Given the description of an element on the screen output the (x, y) to click on. 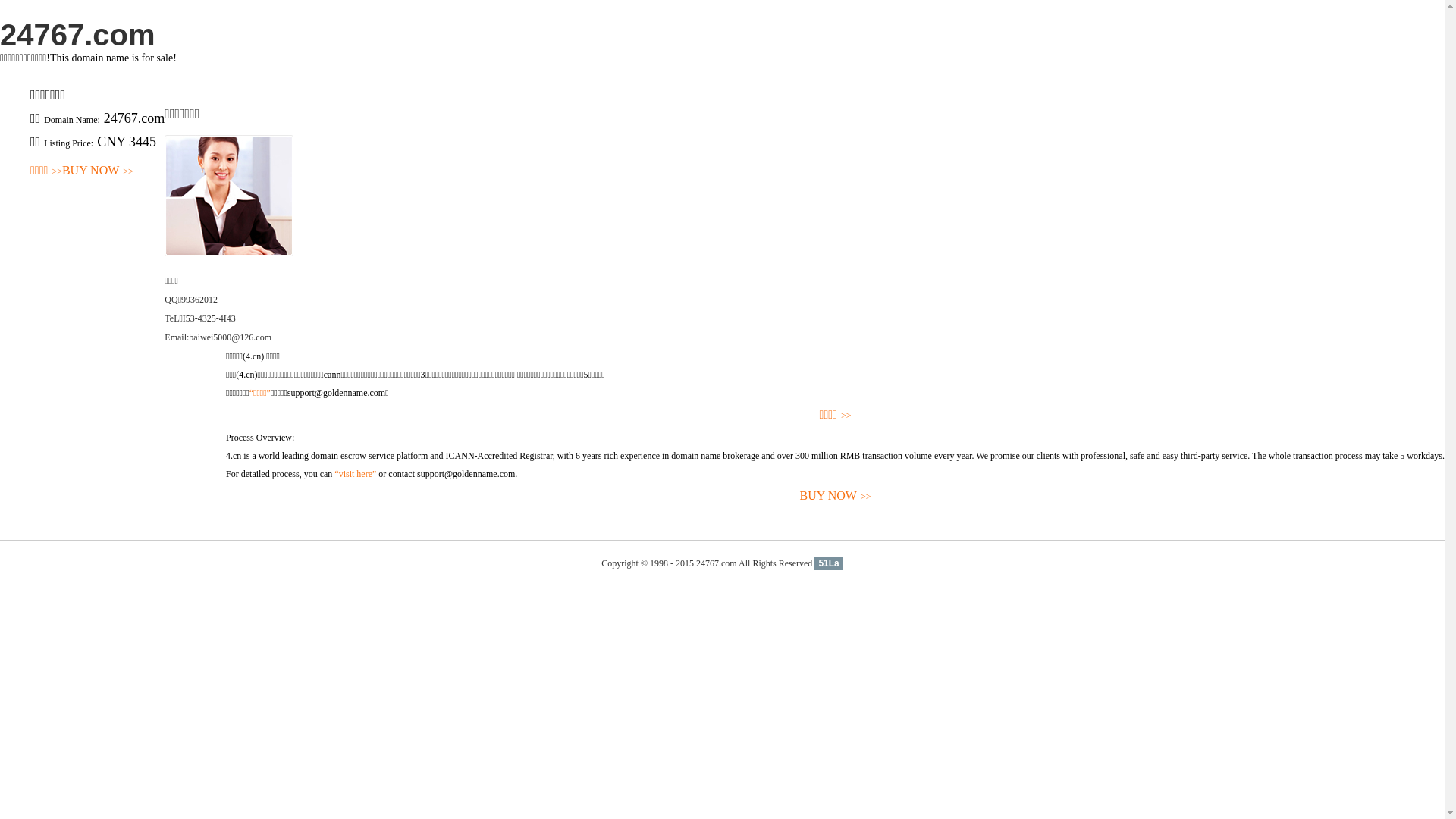
BUY NOW>> Element type: text (834, 496)
BUY NOW>> Element type: text (97, 170)
51La Element type: text (828, 563)
